Given the description of an element on the screen output the (x, y) to click on. 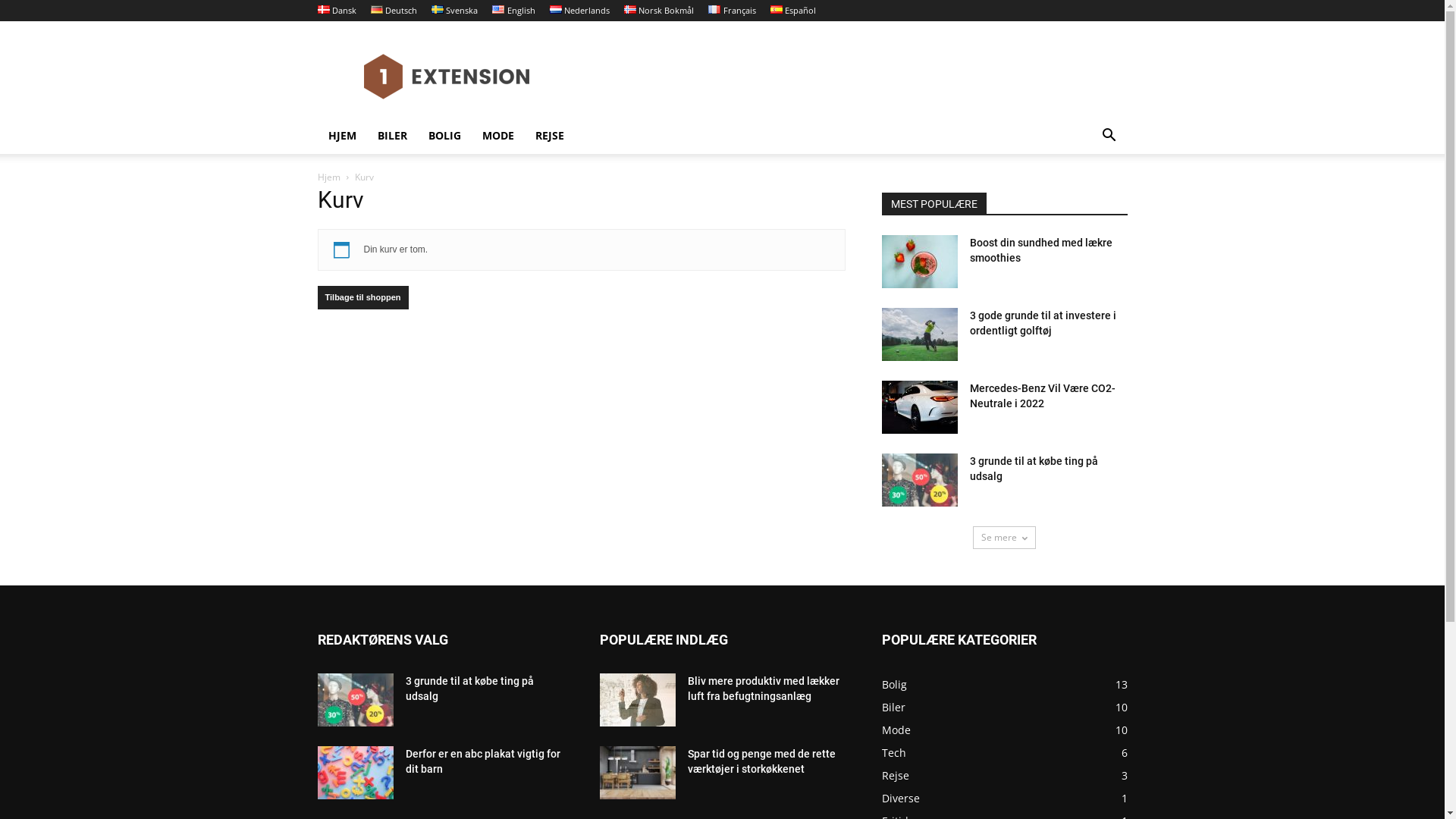
Derfor er en abc plakat vigtig for dit barn Element type: text (481, 761)
HJEM Element type: text (341, 135)
Biler
10 Element type: text (892, 706)
REJSE Element type: text (549, 135)
Tech
6 Element type: text (893, 752)
Search Element type: text (1085, 196)
Derfor er en abc plakat vigtig for dit barn Element type: hover (354, 772)
MODE Element type: text (497, 135)
Bolig
13 Element type: text (893, 684)
English Element type: text (513, 9)
Rejse
3 Element type: text (894, 775)
Mode
10 Element type: text (895, 729)
Dansk Element type: text (335, 9)
BOLIG Element type: text (443, 135)
Tilbage til shoppen Element type: text (361, 297)
Svenska Element type: text (454, 9)
Deutsch Element type: text (393, 9)
Nederlands Element type: text (579, 9)
BILER Element type: text (392, 135)
Diverse
1 Element type: text (900, 797)
Se mere Element type: text (1003, 537)
Hjem Element type: text (327, 176)
